Given the description of an element on the screen output the (x, y) to click on. 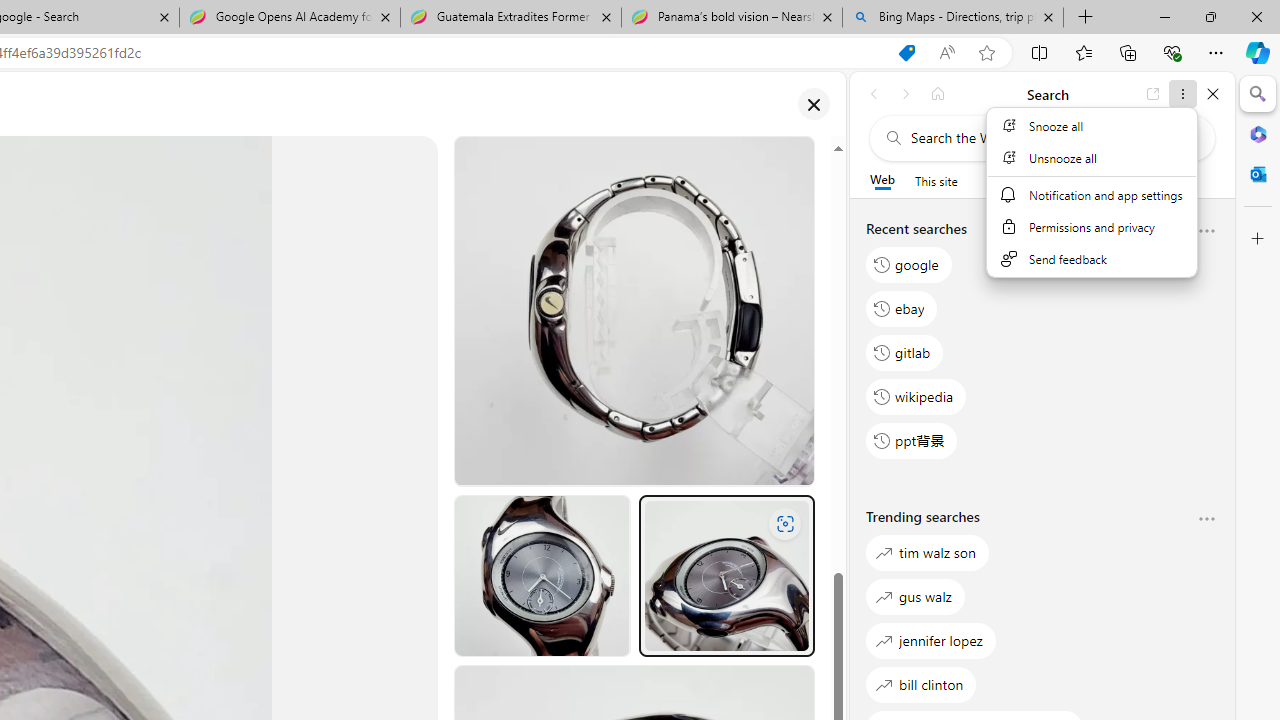
google (909, 264)
Permissions and privacy (1091, 226)
Close image gallery dialog (813, 103)
Context (1091, 192)
Unsnooze all (1091, 157)
